Given the description of an element on the screen output the (x, y) to click on. 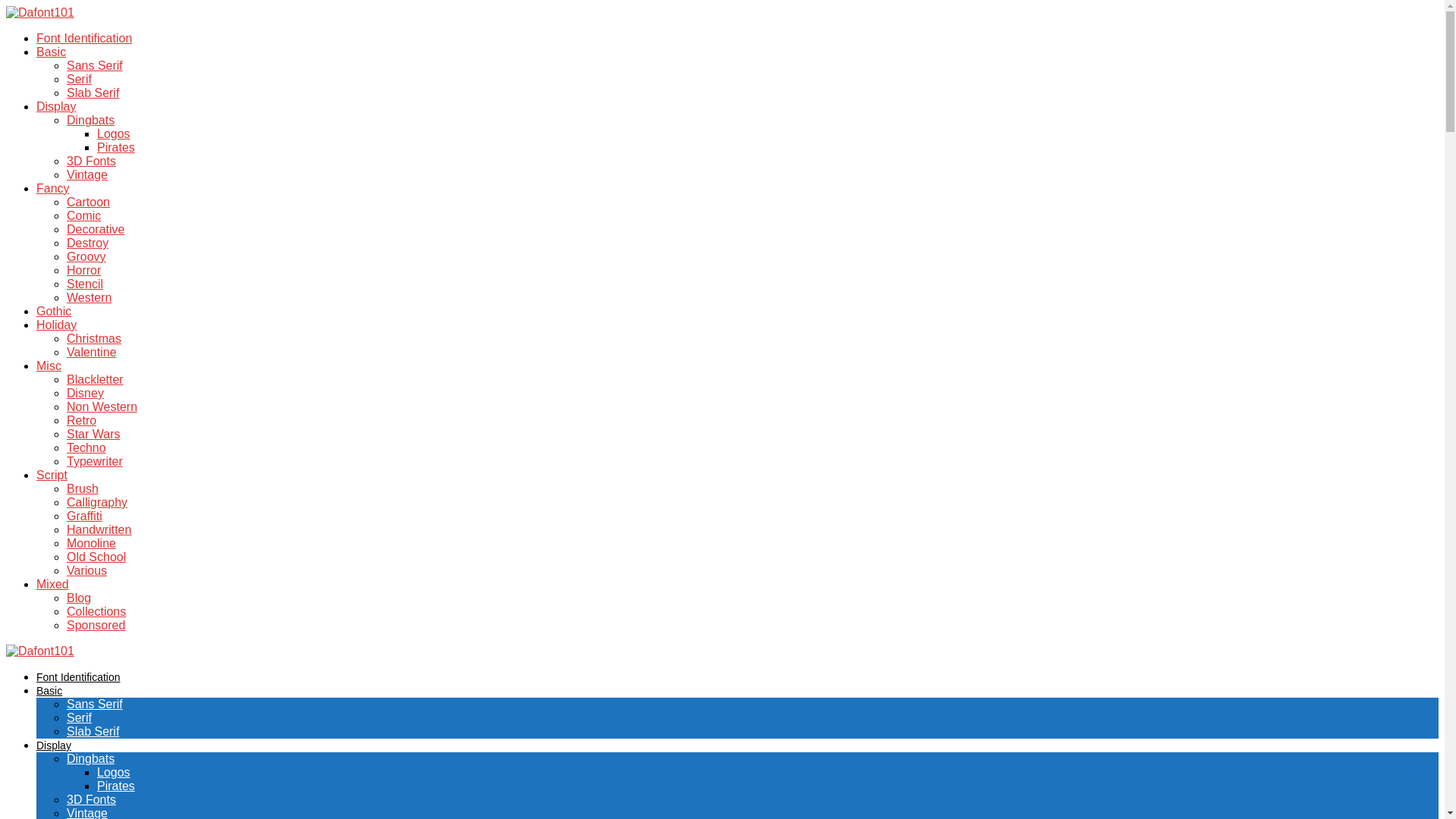
Retro (81, 420)
3D Fonts (91, 160)
Decorative (94, 228)
Groovy (86, 256)
Gothic (53, 310)
Techno (86, 447)
Calligraphy (97, 502)
Valentine (91, 351)
Non Western (101, 406)
Comic (83, 215)
